Given the description of an element on the screen output the (x, y) to click on. 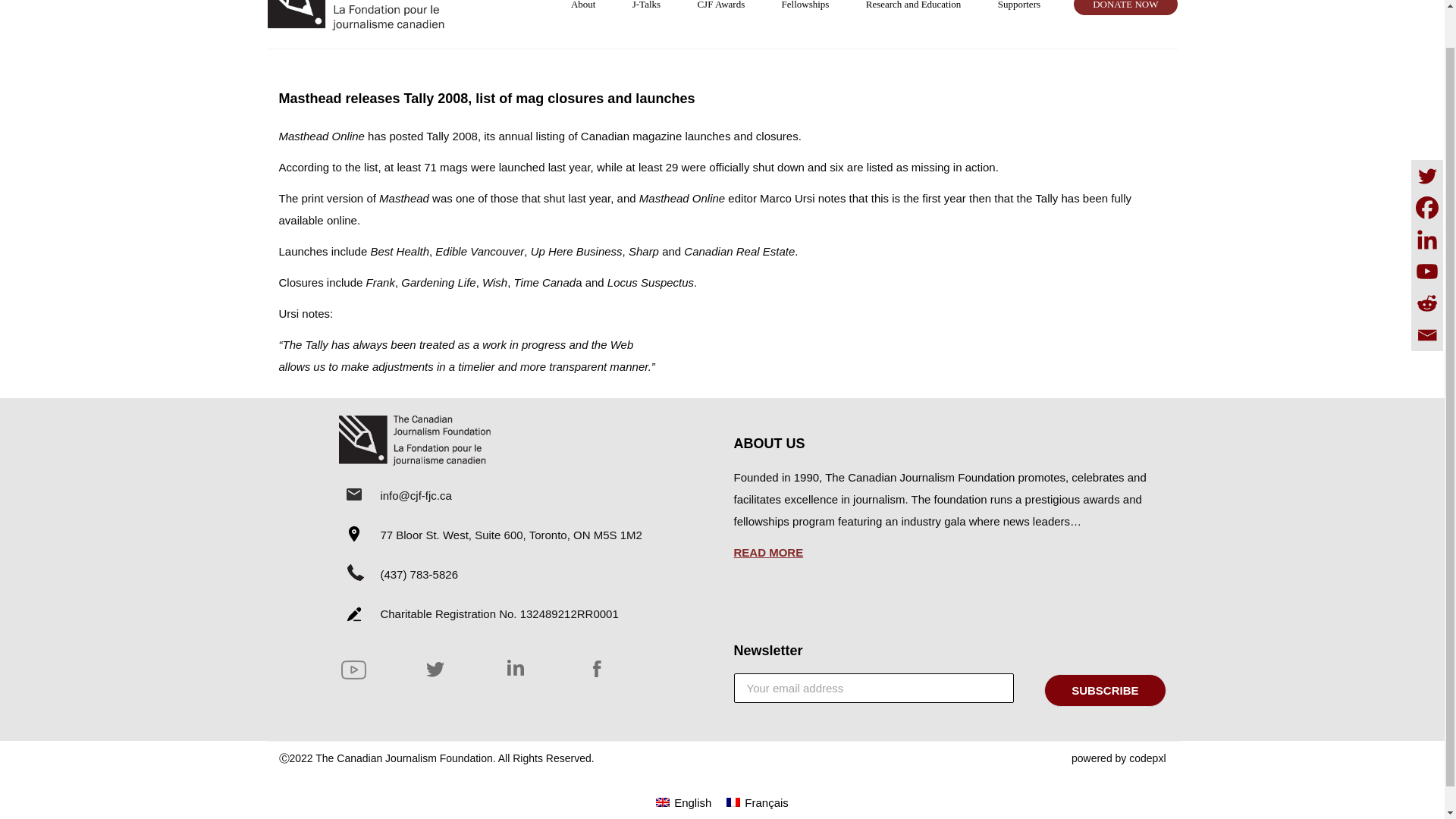
Email (1426, 294)
Twitter (1426, 134)
Reddit (1426, 262)
Subscribe (1104, 690)
Facebook (1426, 166)
Linkedin (1426, 198)
Youtube (1426, 230)
